Given the description of an element on the screen output the (x, y) to click on. 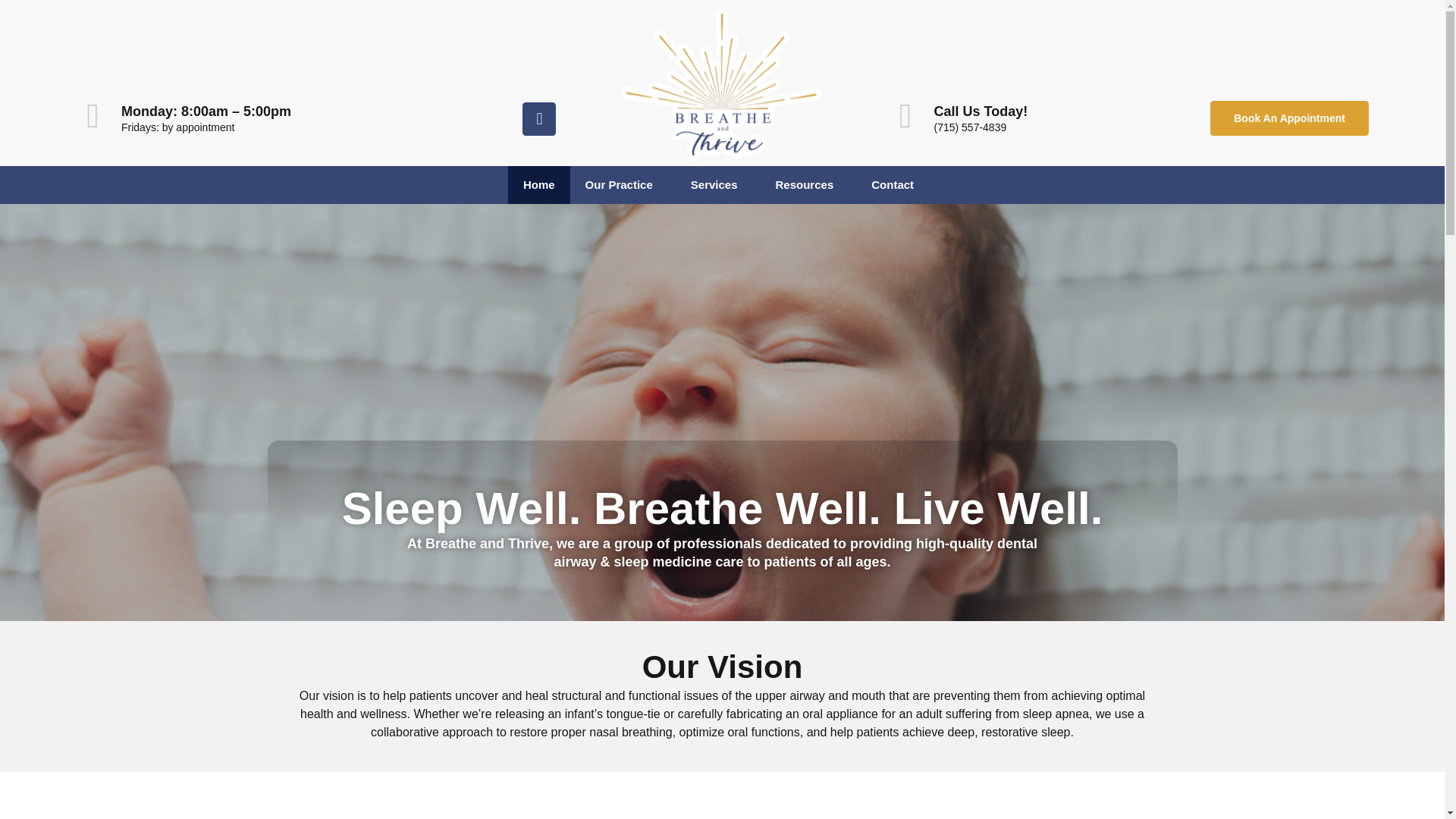
Book An Appointment (1288, 117)
Our Practice (622, 184)
Home (539, 184)
Resources (808, 184)
Contact (896, 184)
Call Us Today! (980, 111)
Services (717, 184)
